Given the description of an element on the screen output the (x, y) to click on. 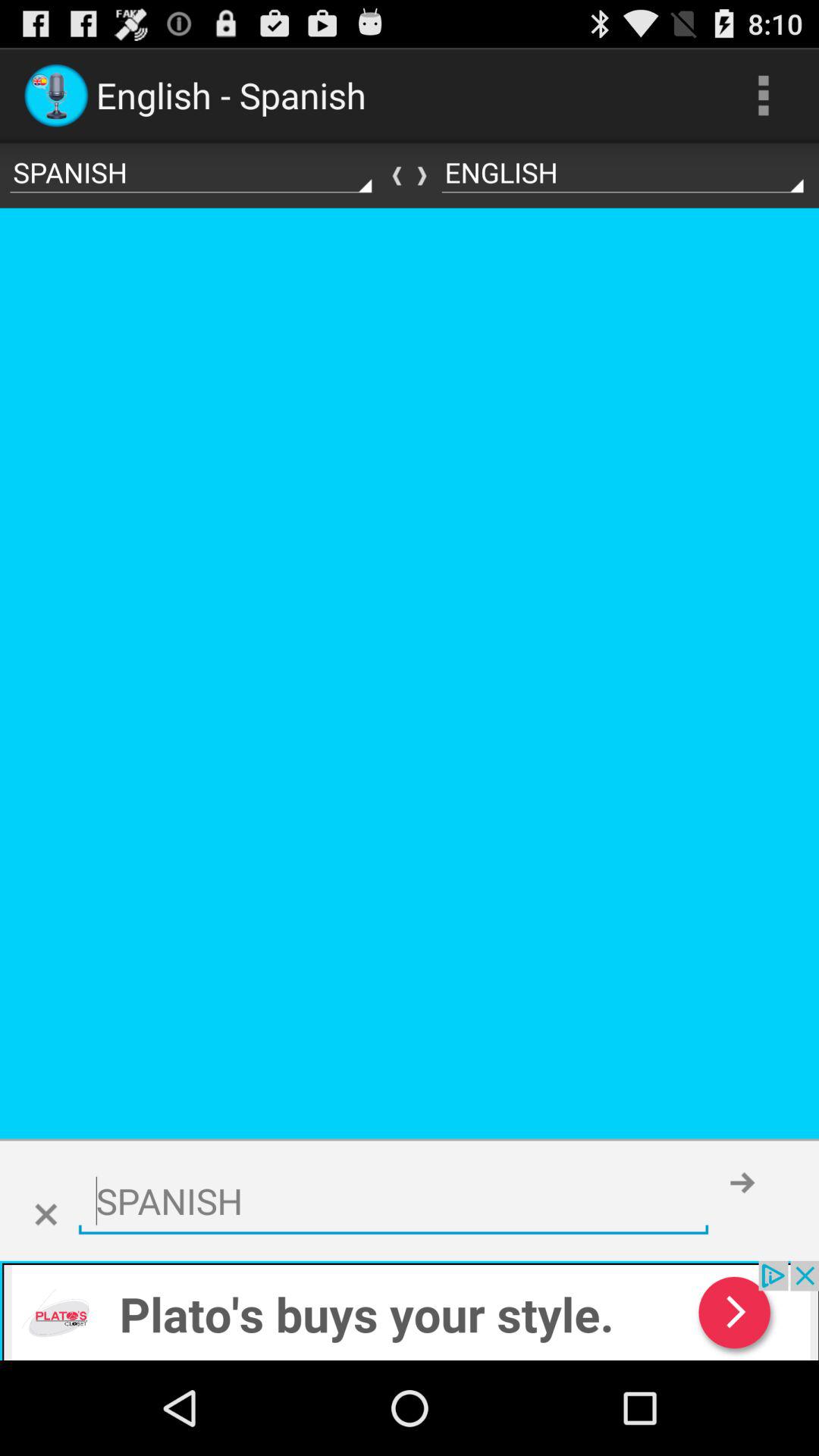
click bottom advertisement (409, 1310)
